Given the description of an element on the screen output the (x, y) to click on. 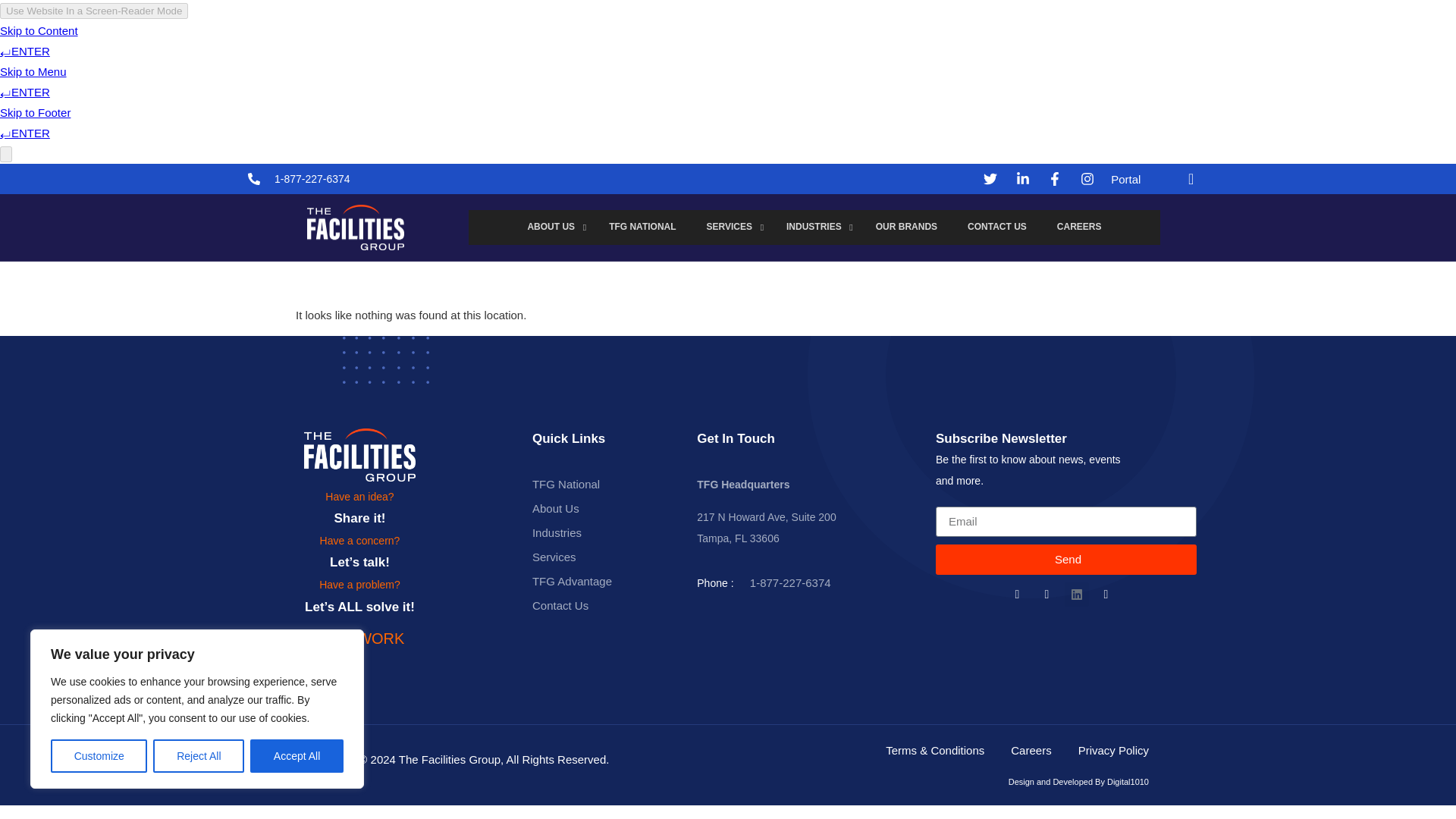
Reject All (198, 756)
ABOUT US (553, 226)
Accept All (296, 756)
TFG NATIONAL (642, 226)
Portal (1125, 178)
SERVICES (731, 226)
Customize (98, 756)
